Given the description of an element on the screen output the (x, y) to click on. 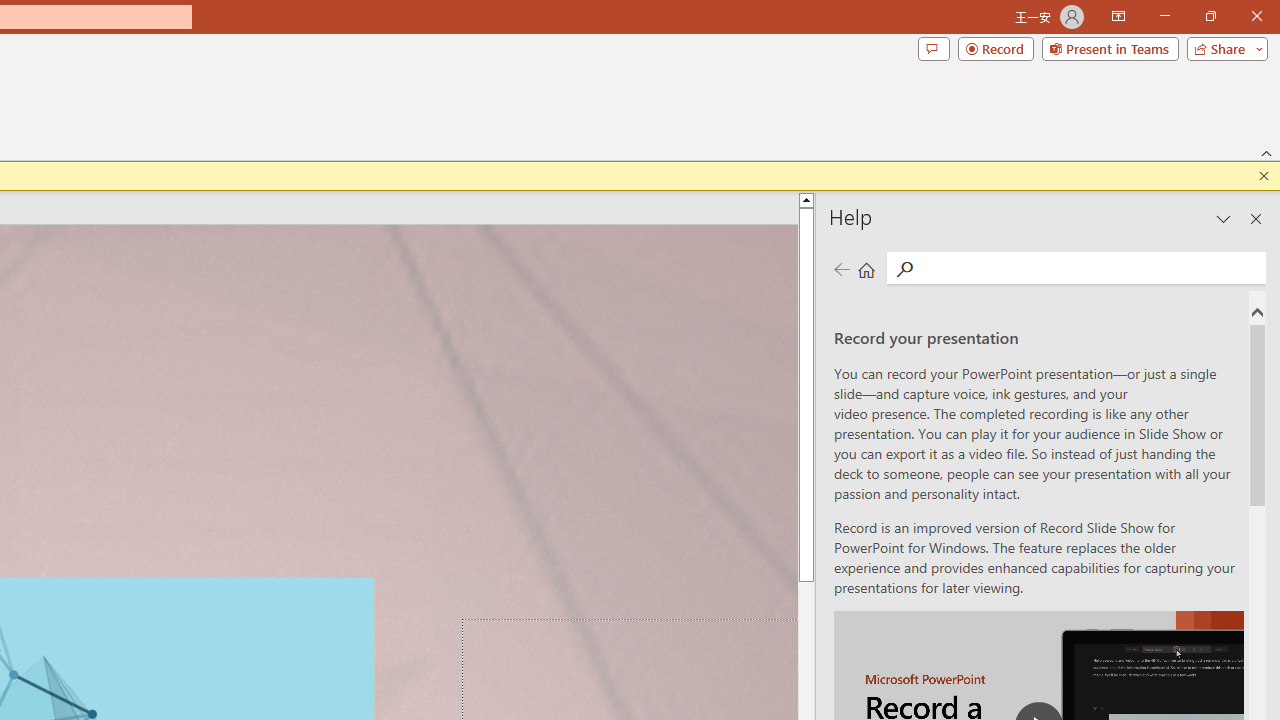
Page up (806, 369)
